Given the description of an element on the screen output the (x, y) to click on. 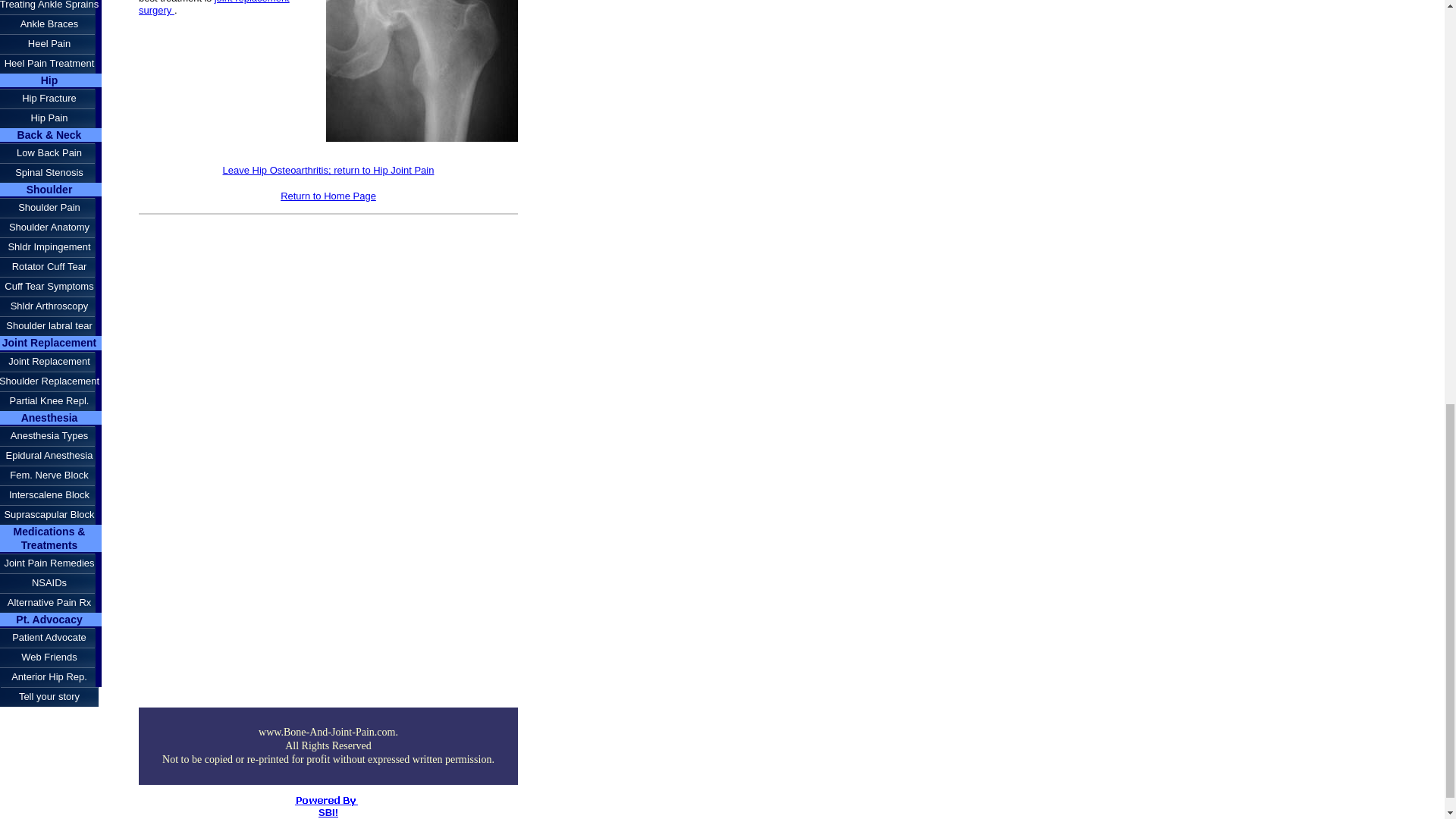
Shoulder Pain (50, 207)
Spinal Stenosis (50, 172)
Shoulder Anatomy (50, 227)
Heel Pain (50, 44)
Low Back Pain (50, 152)
Hip Fracture (50, 98)
Treating Ankle Sprains (50, 7)
Advertisement (265, 578)
Ankle Braces (50, 24)
Hip Pain (50, 117)
